Given the description of an element on the screen output the (x, y) to click on. 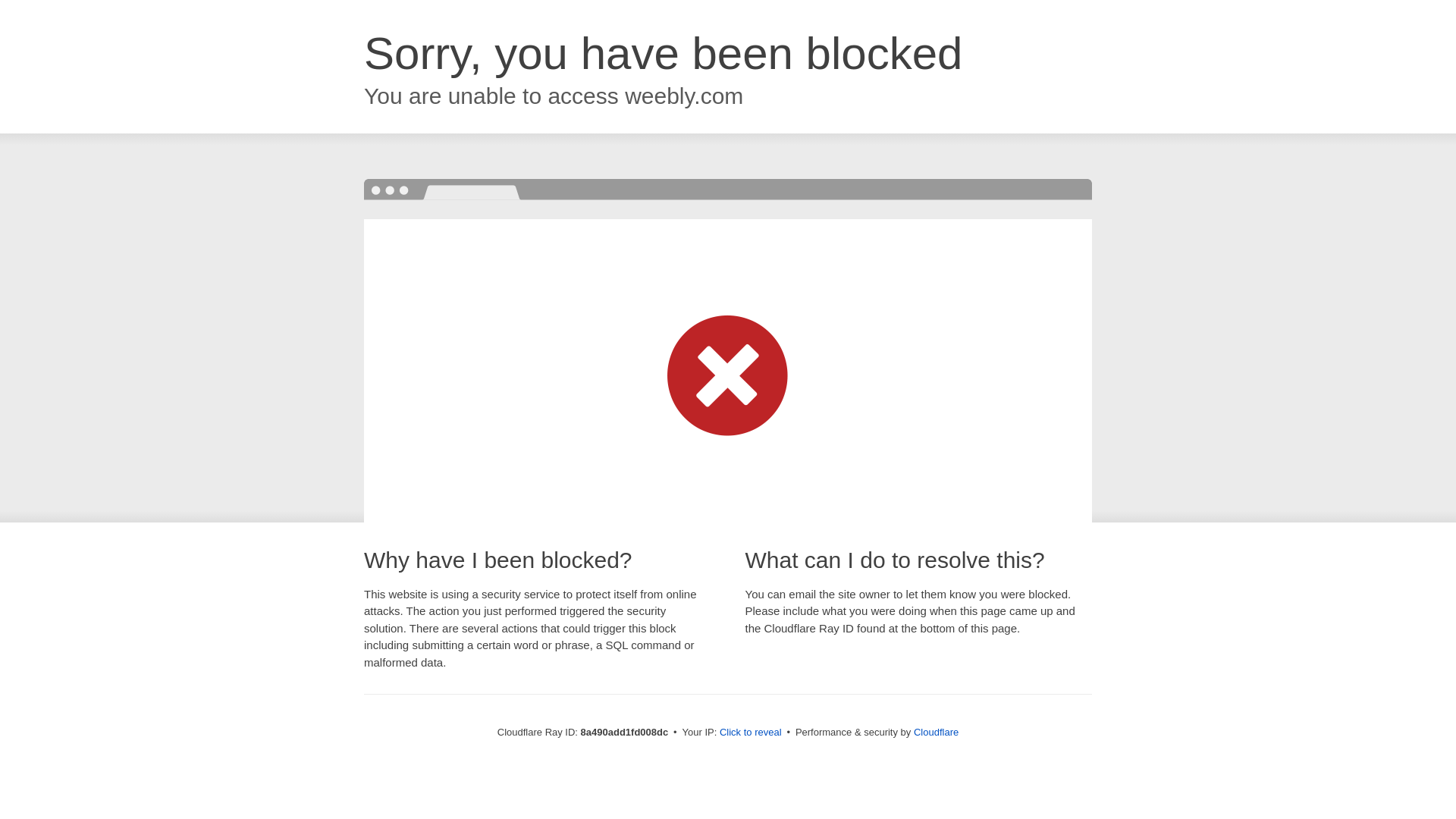
Click to reveal (750, 732)
Cloudflare (936, 731)
